Given the description of an element on the screen output the (x, y) to click on. 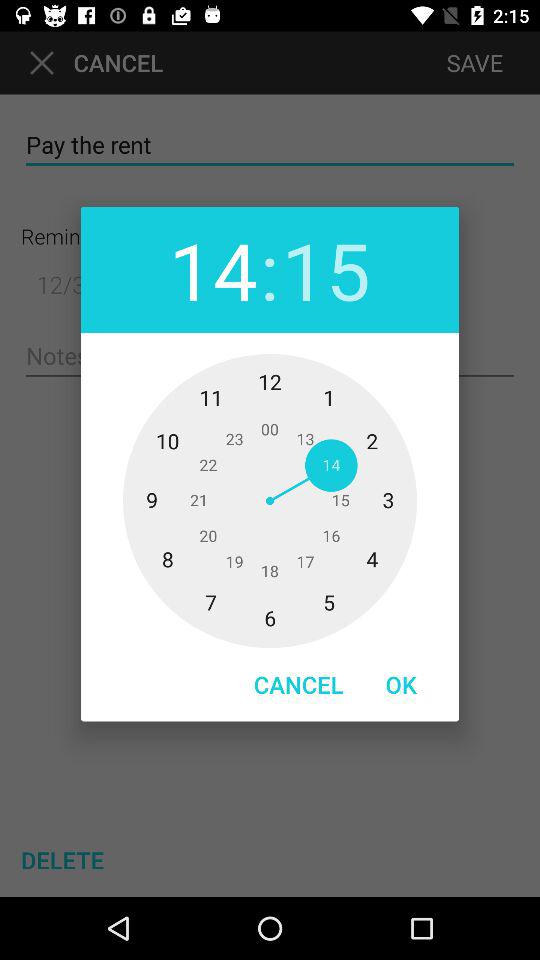
press item to the right of : (325, 269)
